Given the description of an element on the screen output the (x, y) to click on. 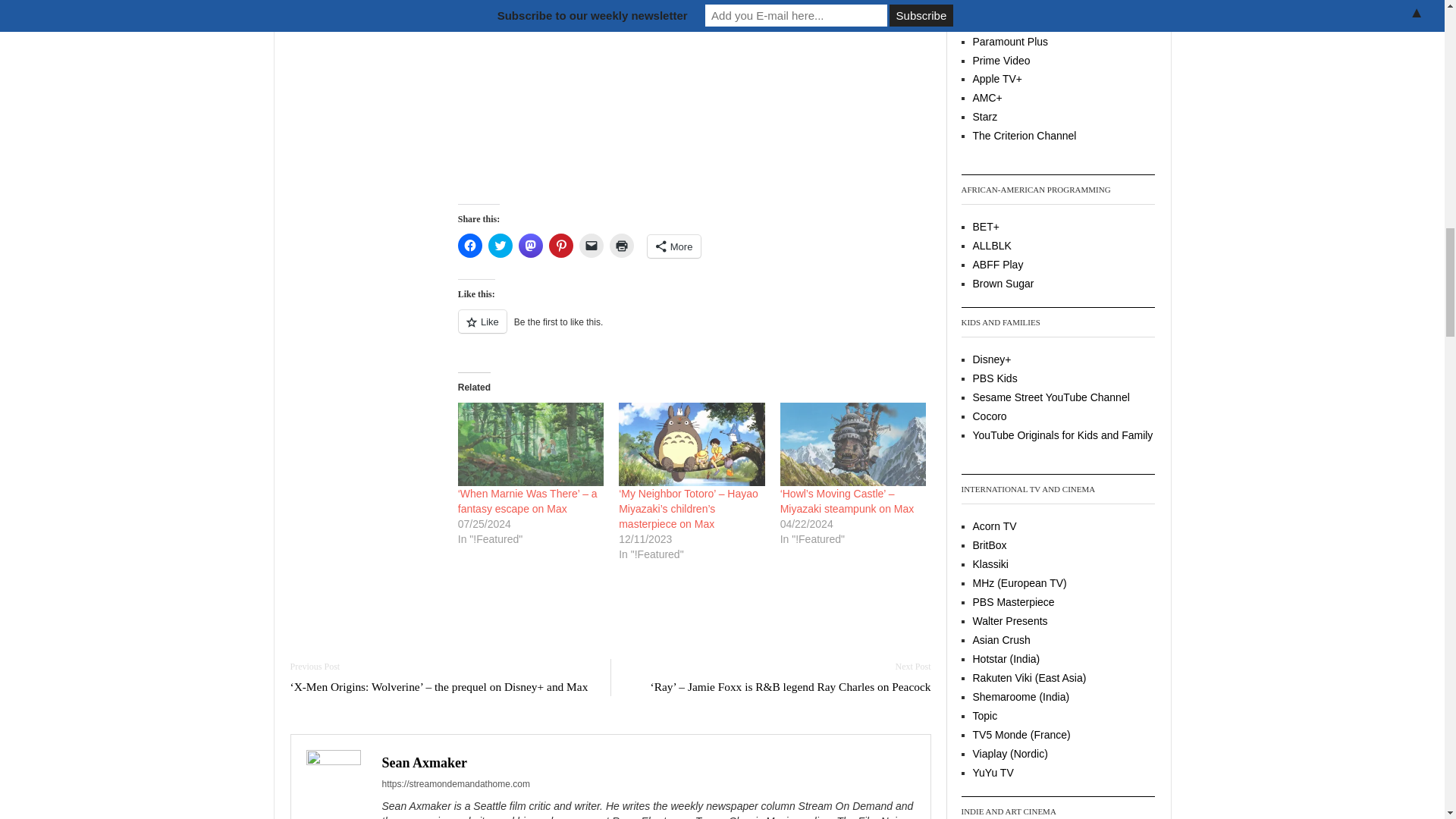
Click to email a link to a friend (591, 245)
Click to share on Facebook (469, 245)
Click to share on Mastodon (530, 245)
Click to print (621, 245)
Click to share on Twitter (499, 245)
Click to share on Pinterest (560, 245)
